Given the description of an element on the screen output the (x, y) to click on. 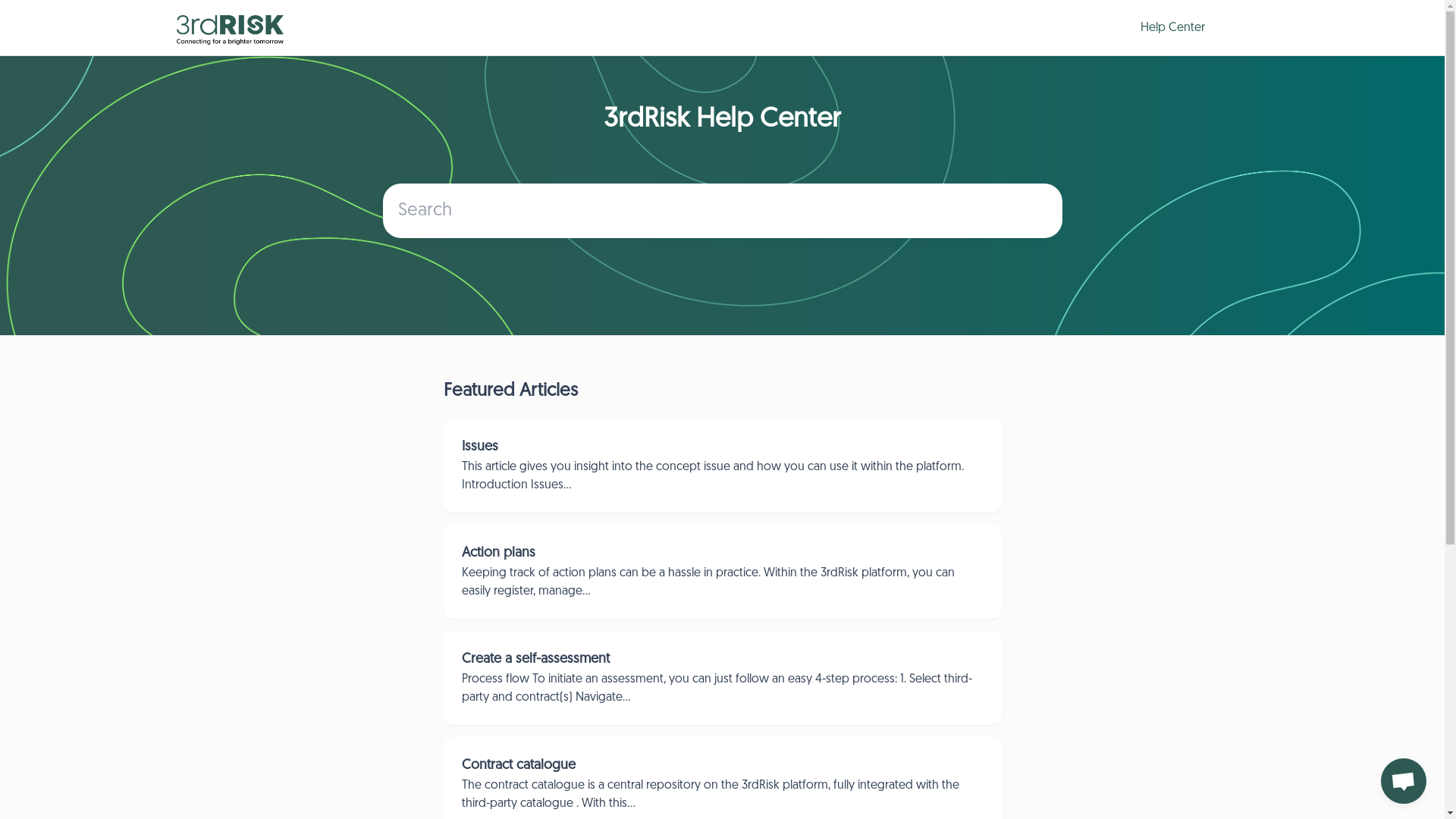
Help Center Element type: text (1169, 27)
